Given the description of an element on the screen output the (x, y) to click on. 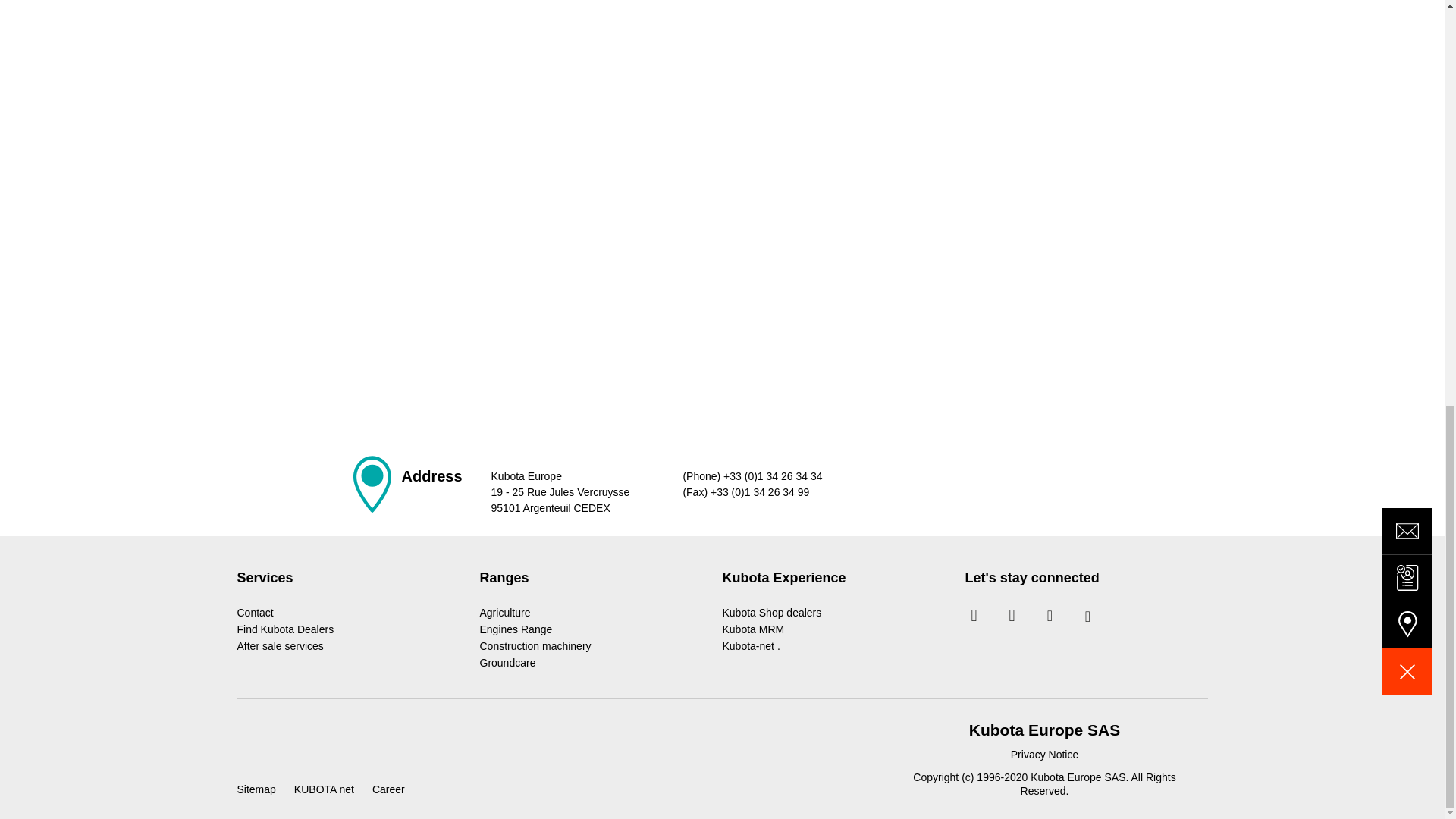
Instagram (972, 615)
LinkedIn (1011, 615)
YouTube (1087, 615)
Facebook (1049, 615)
